Given the description of an element on the screen output the (x, y) to click on. 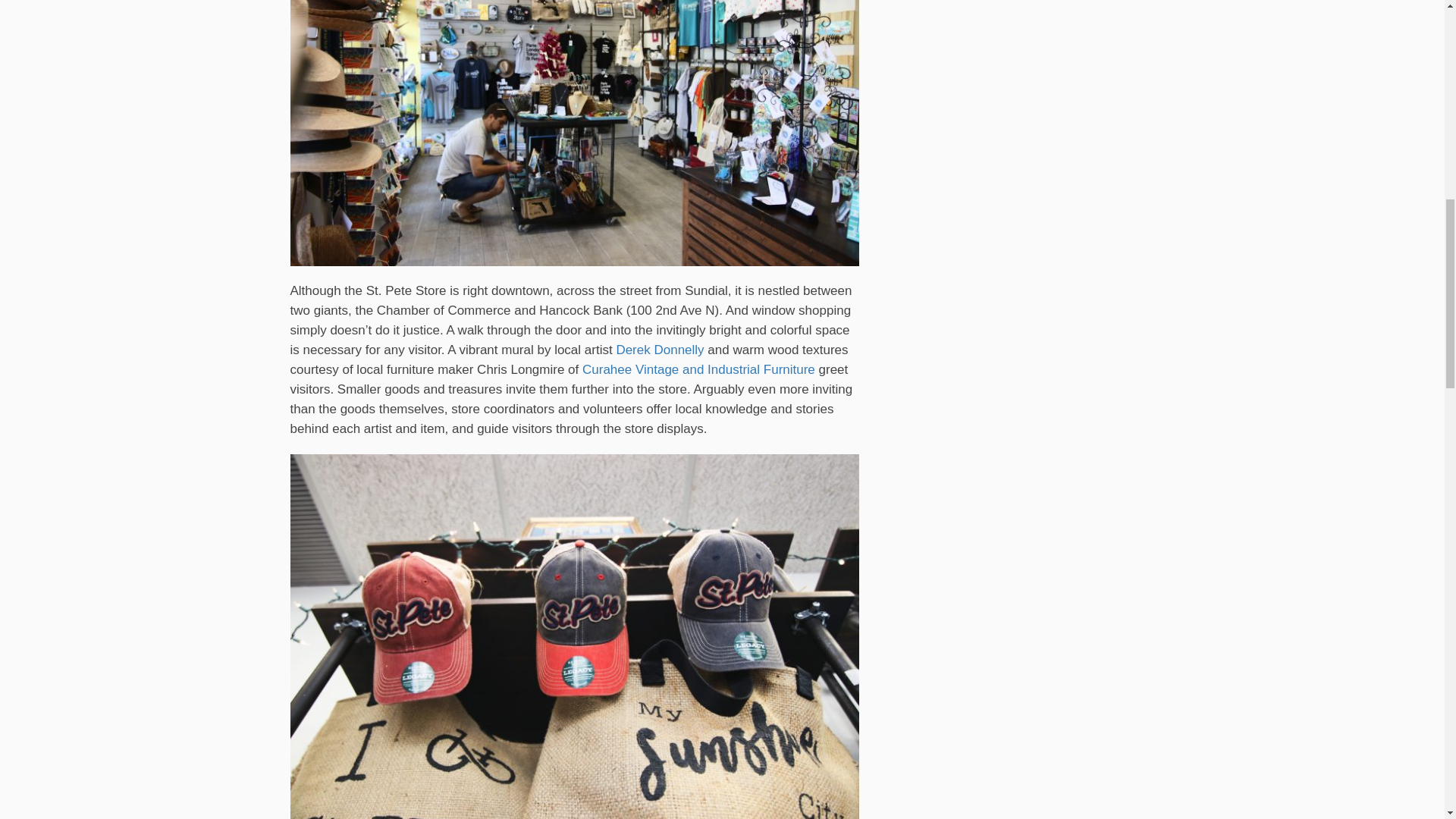
Curahee Vintage and Industrial Furniture (698, 369)
Derek Donnelly (659, 350)
